Given the description of an element on the screen output the (x, y) to click on. 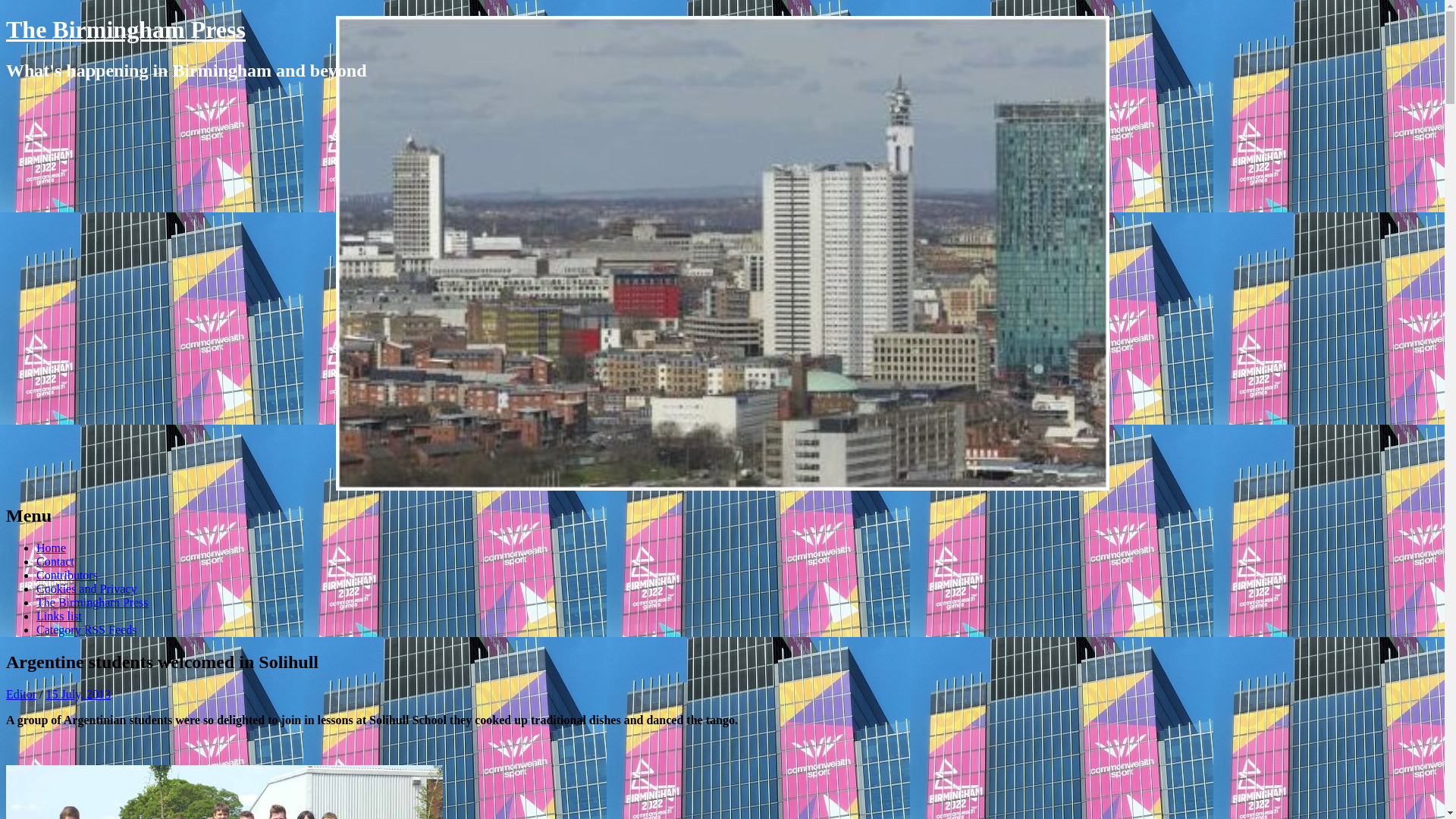
Home (50, 547)
The Birmingham Press (125, 29)
Contact (55, 561)
Contributors (66, 574)
The Birmingham Press (125, 29)
Cookies and Privacy (86, 588)
Links list (58, 615)
The Birmingham Press (92, 602)
Home (50, 547)
Category RSS Feeds (86, 629)
Contact (55, 561)
Editor (20, 694)
Contributors (66, 574)
